Given the description of an element on the screen output the (x, y) to click on. 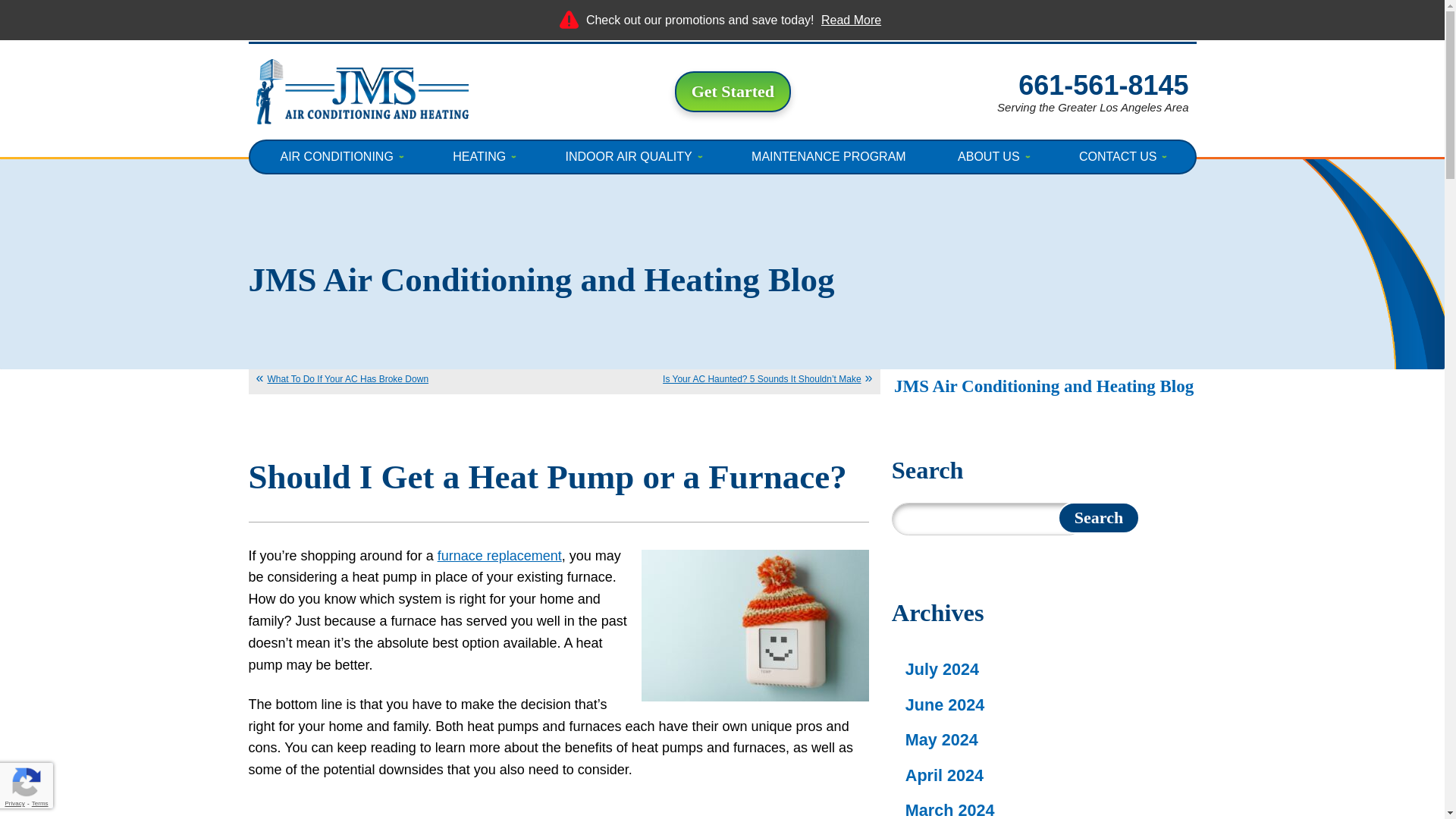
Get Started (732, 91)
AIR CONDITIONING (339, 156)
661-561-8145 (1102, 84)
MAINTENANCE PROGRAM (828, 156)
INDOOR AIR QUALITY (632, 156)
ABOUT US (992, 156)
HEATING (482, 156)
Read More (850, 19)
